Given the description of an element on the screen output the (x, y) to click on. 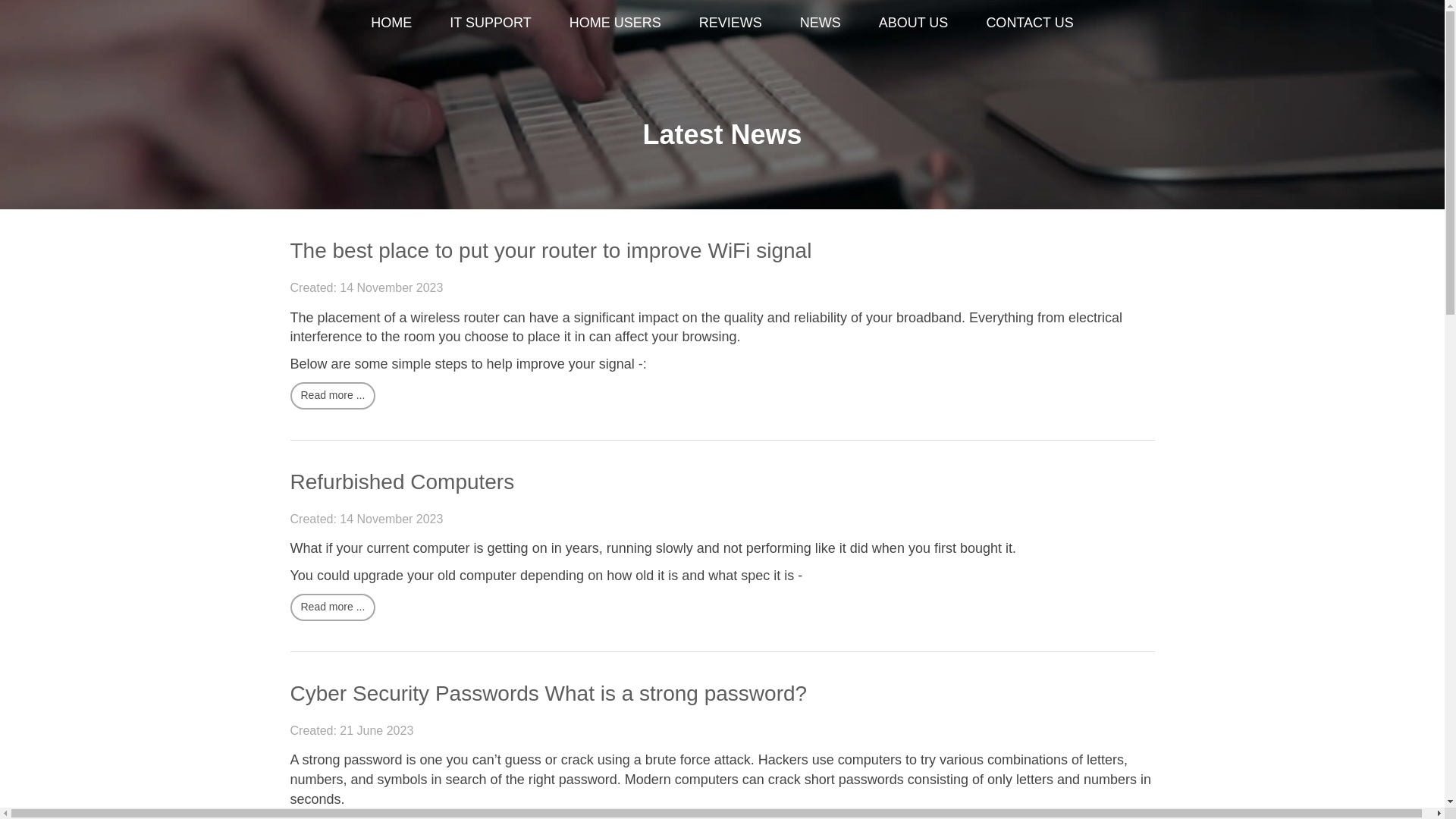
NEWS (820, 20)
ABOUT US (914, 20)
HOME (391, 20)
HOME USERS (614, 20)
Read more ... (332, 395)
Read more ... (332, 818)
CONTACT US (1029, 20)
REVIEWS (729, 20)
IT SUPPORT (490, 20)
Read more ... (332, 606)
